Given the description of an element on the screen output the (x, y) to click on. 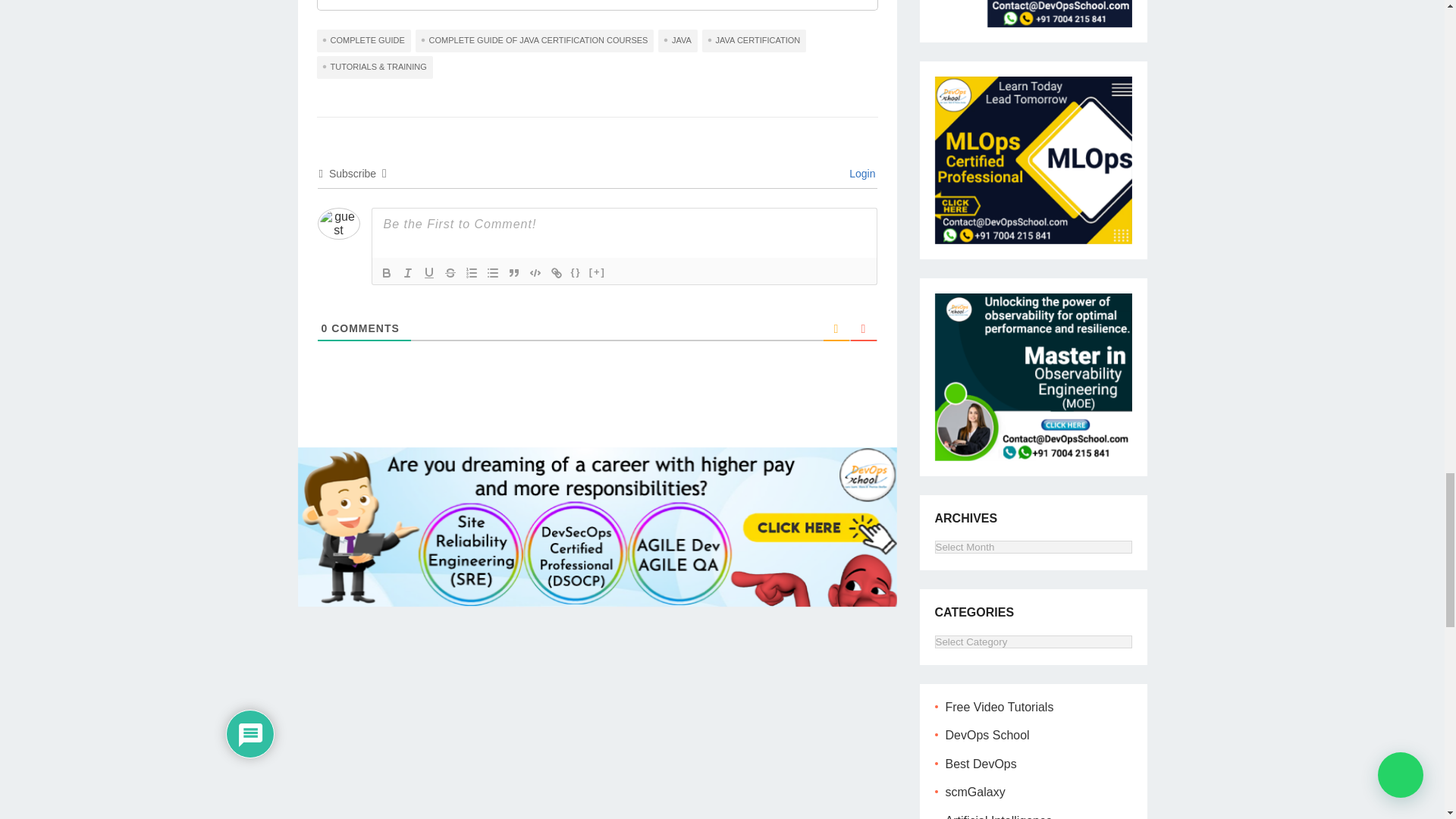
Login (859, 173)
JAVA CERTIFICATION (753, 40)
COMPLETE GUIDE (363, 40)
COMPLETE GUIDE OF JAVA CERTIFICATION COURSES (533, 40)
JAVA (677, 40)
